Given the description of an element on the screen output the (x, y) to click on. 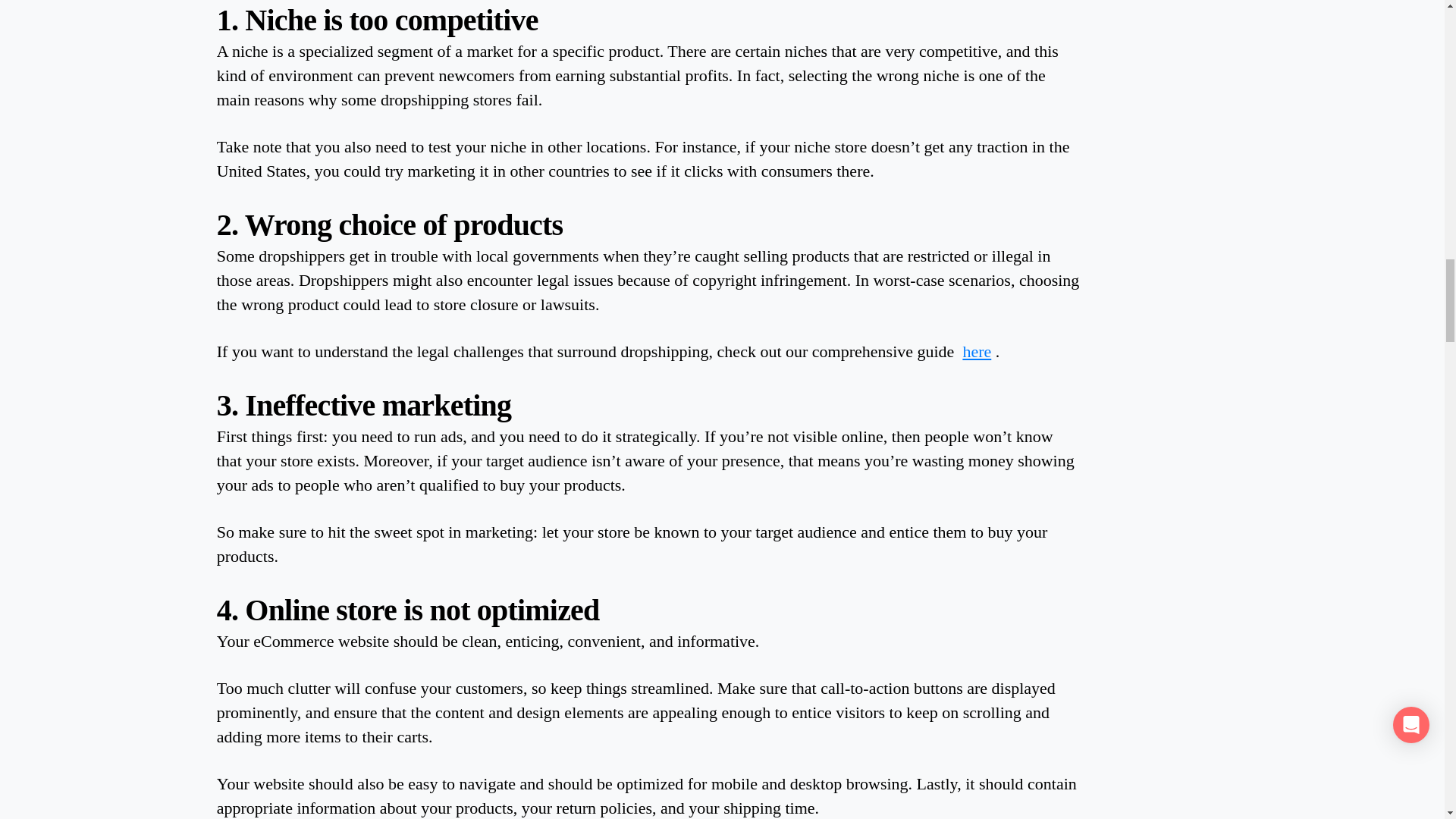
here (976, 351)
